Given the description of an element on the screen output the (x, y) to click on. 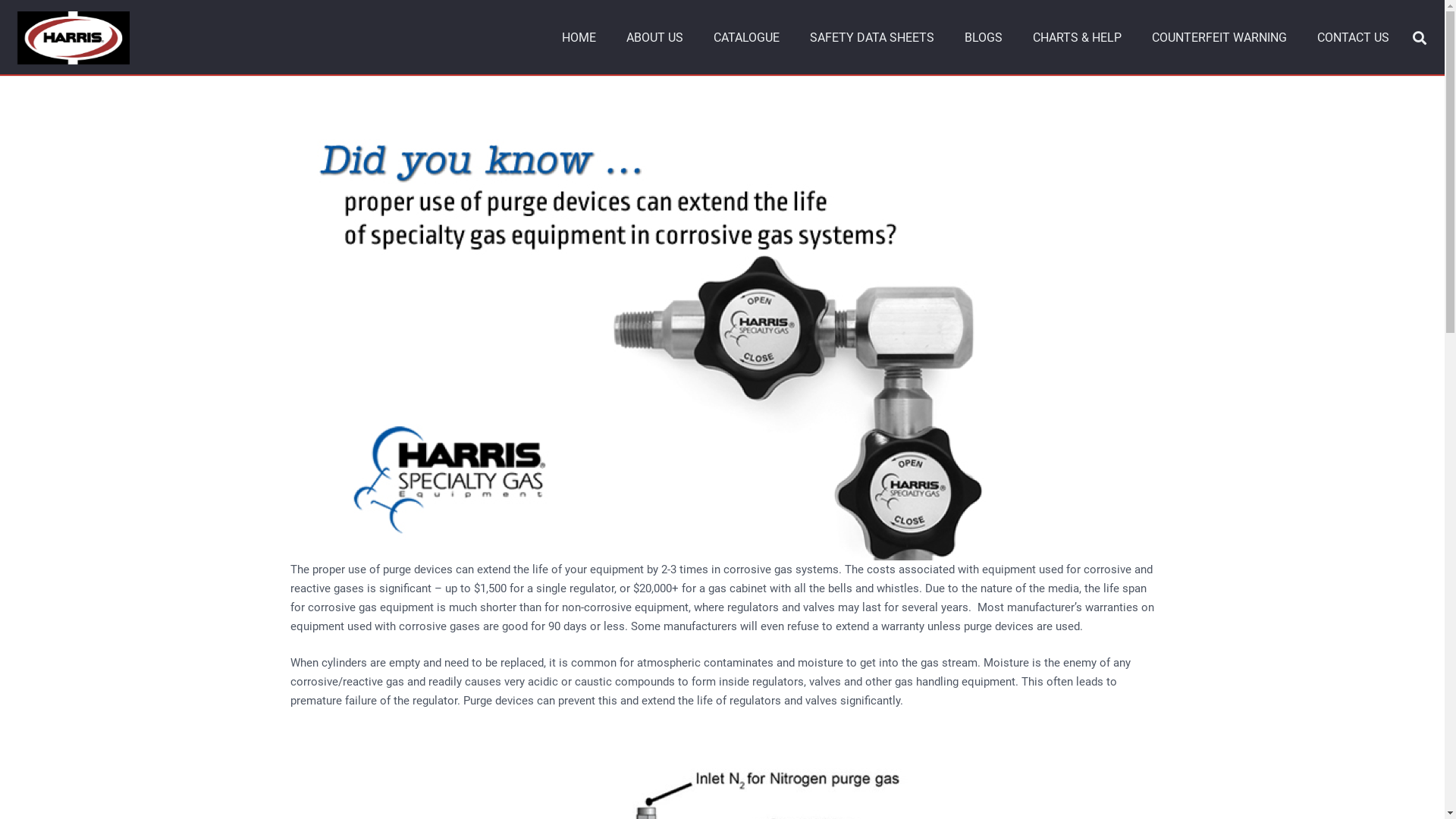
HOME Element type: text (578, 37)
CHARTS & HELP Element type: text (1076, 37)
COUNTERFEIT WARNING Element type: text (1219, 37)
BLOGS Element type: text (983, 37)
ABOUT US Element type: text (654, 37)
SAFETY DATA SHEETS Element type: text (871, 37)
CONTACT US Element type: text (1353, 37)
CATALOGUE Element type: text (746, 37)
